Given the description of an element on the screen output the (x, y) to click on. 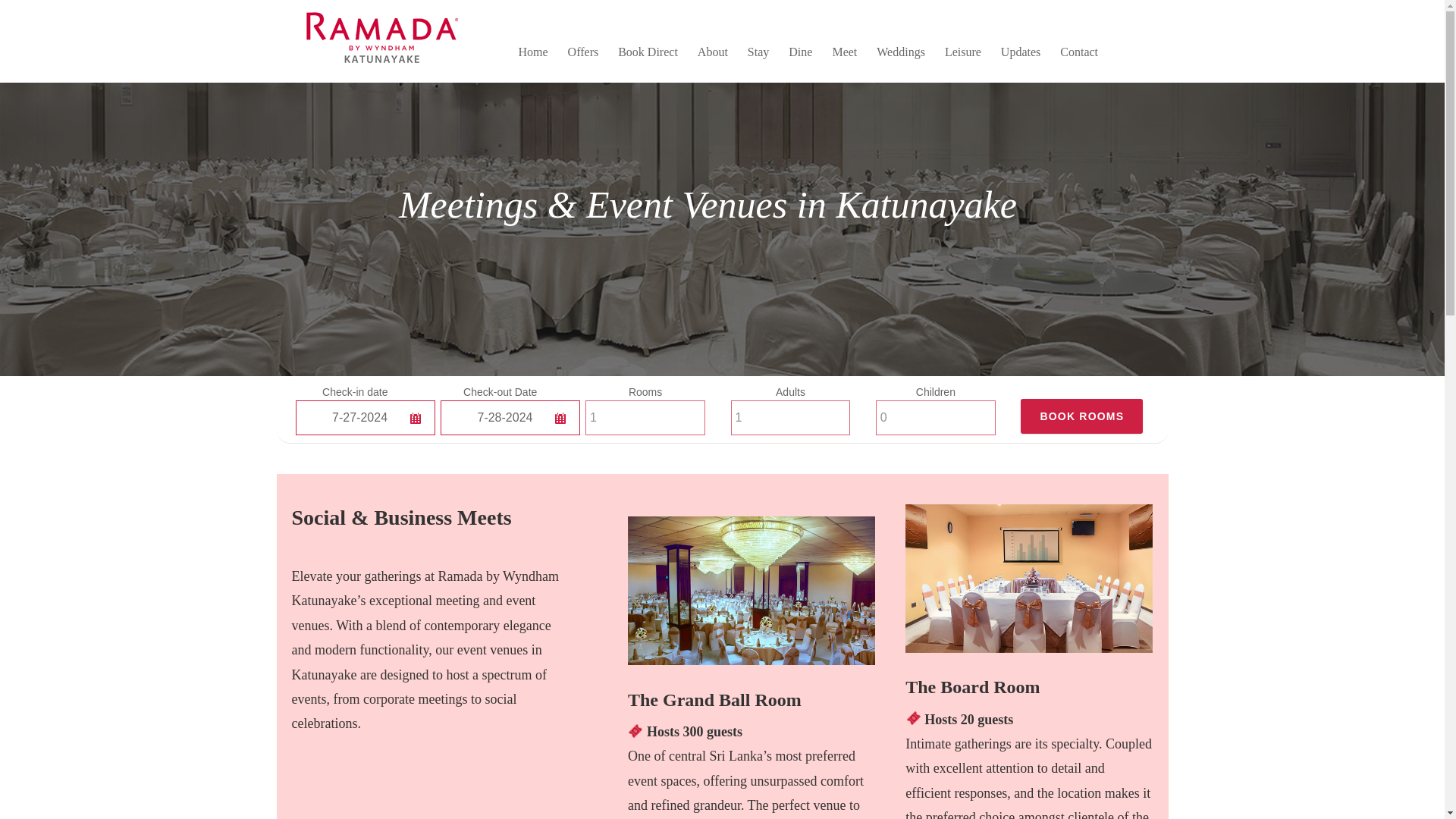
Weddings (900, 51)
Check availability (1081, 416)
BOOK ROOMS (1081, 416)
Home (532, 51)
Dine (800, 51)
7-27-2024 (365, 417)
Stay (758, 51)
7-28-2024 (510, 417)
The Best Hotel in Katunayake, near Colombo Airport (378, 66)
Leisure (962, 51)
Book Direct (647, 51)
Updates (1020, 51)
About (712, 51)
Offers (582, 51)
Meet (844, 51)
